Given the description of an element on the screen output the (x, y) to click on. 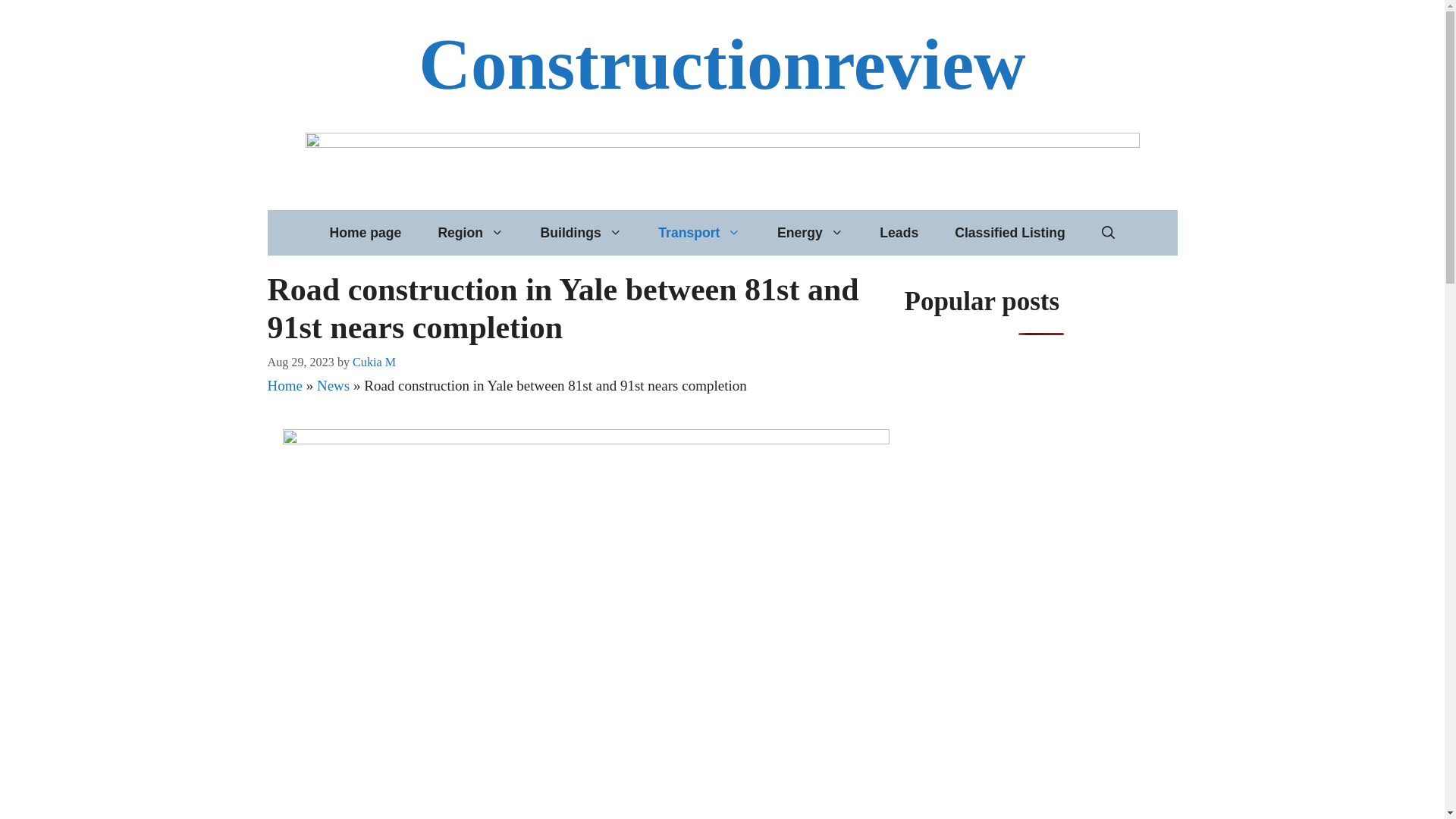
Energy (809, 232)
Region (470, 232)
Classified Listing (1009, 232)
Leads (898, 232)
Home page (365, 232)
Constructionreview (722, 64)
Transport (699, 232)
Buildings (581, 232)
View all posts by Cukia M (374, 361)
